Given the description of an element on the screen output the (x, y) to click on. 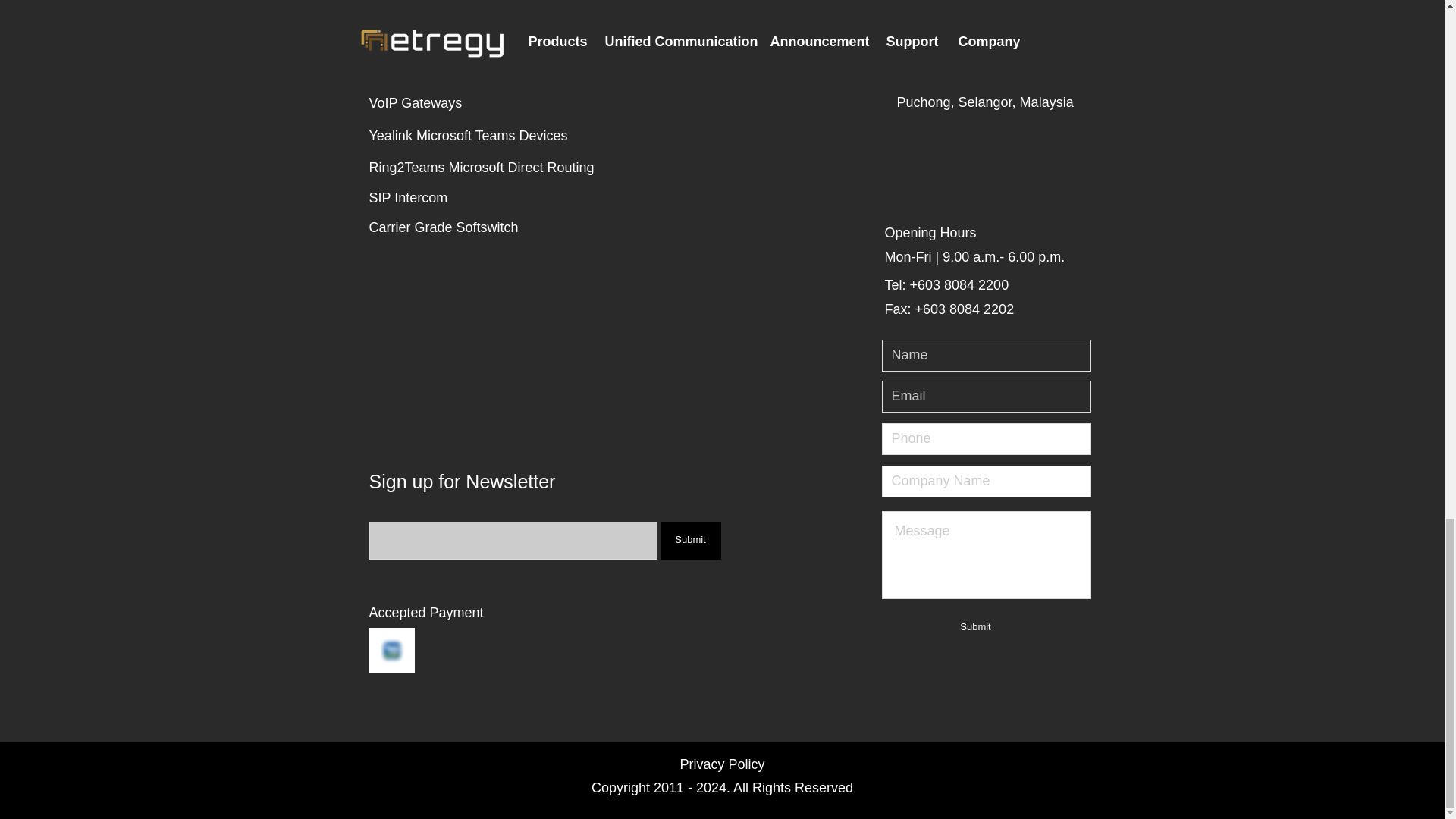
SIP-Phones (422, 11)
Cloud PBX (422, 71)
IP-PBX (422, 38)
SIP Intercom (445, 198)
Promotions (604, 67)
Carrier Grade Softswitch (445, 227)
Ring2Teams Microsoft Direct Routing (483, 168)
Yealink Microsoft Teams Devices (484, 136)
VoIP Gateways (422, 103)
Events (604, 11)
News (604, 37)
